Given the description of an element on the screen output the (x, y) to click on. 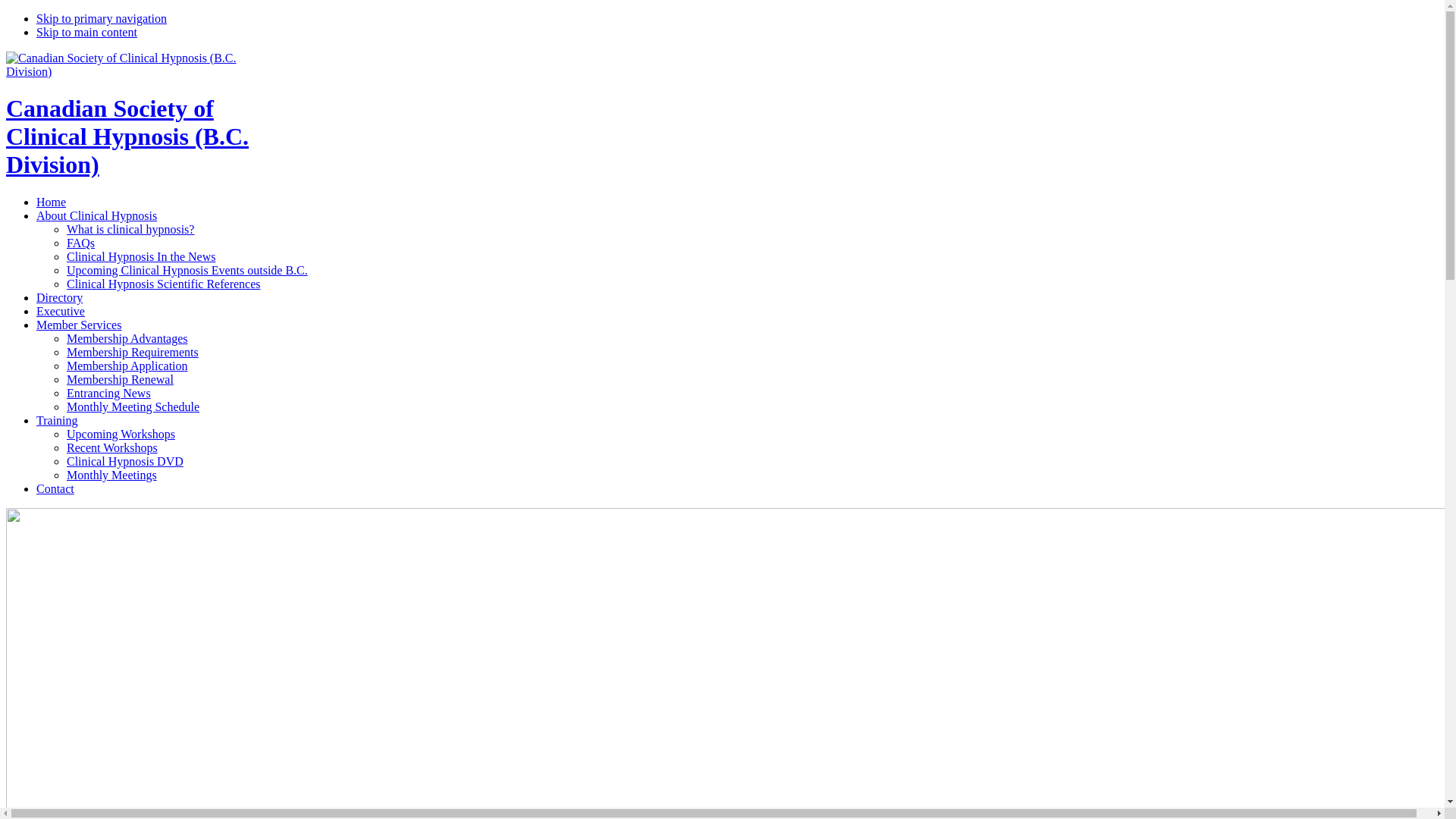
Member Services Element type: text (78, 324)
Home Element type: text (50, 201)
Entrancing News Element type: text (108, 392)
Membership Renewal Element type: text (119, 379)
Membership Advantages Element type: text (127, 338)
Upcoming Clinical Hypnosis Events outside B.C. Element type: text (186, 269)
Membership Requirements Element type: text (132, 351)
Clinical Hypnosis DVD Element type: text (124, 461)
Skip to primary navigation Element type: text (101, 18)
Clinical Hypnosis Scientific References Element type: text (163, 283)
Training Element type: text (57, 420)
Monthly Meeting Schedule Element type: text (132, 406)
Recent Workshops Element type: text (111, 447)
Monthly Meetings Element type: text (111, 474)
Contact Element type: text (55, 488)
Executive Element type: text (60, 310)
What is clinical hypnosis? Element type: text (130, 228)
Upcoming Workshops Element type: text (120, 433)
FAQs Element type: text (80, 242)
About Clinical Hypnosis Element type: text (96, 215)
Membership Application Element type: text (127, 365)
Directory Element type: text (59, 297)
Clinical Hypnosis In the News Element type: text (140, 256)
Skip to main content Element type: text (86, 31)
Canadian Society of Clinical Hypnosis (B.C. Division) Element type: text (127, 136)
